Given the description of an element on the screen output the (x, y) to click on. 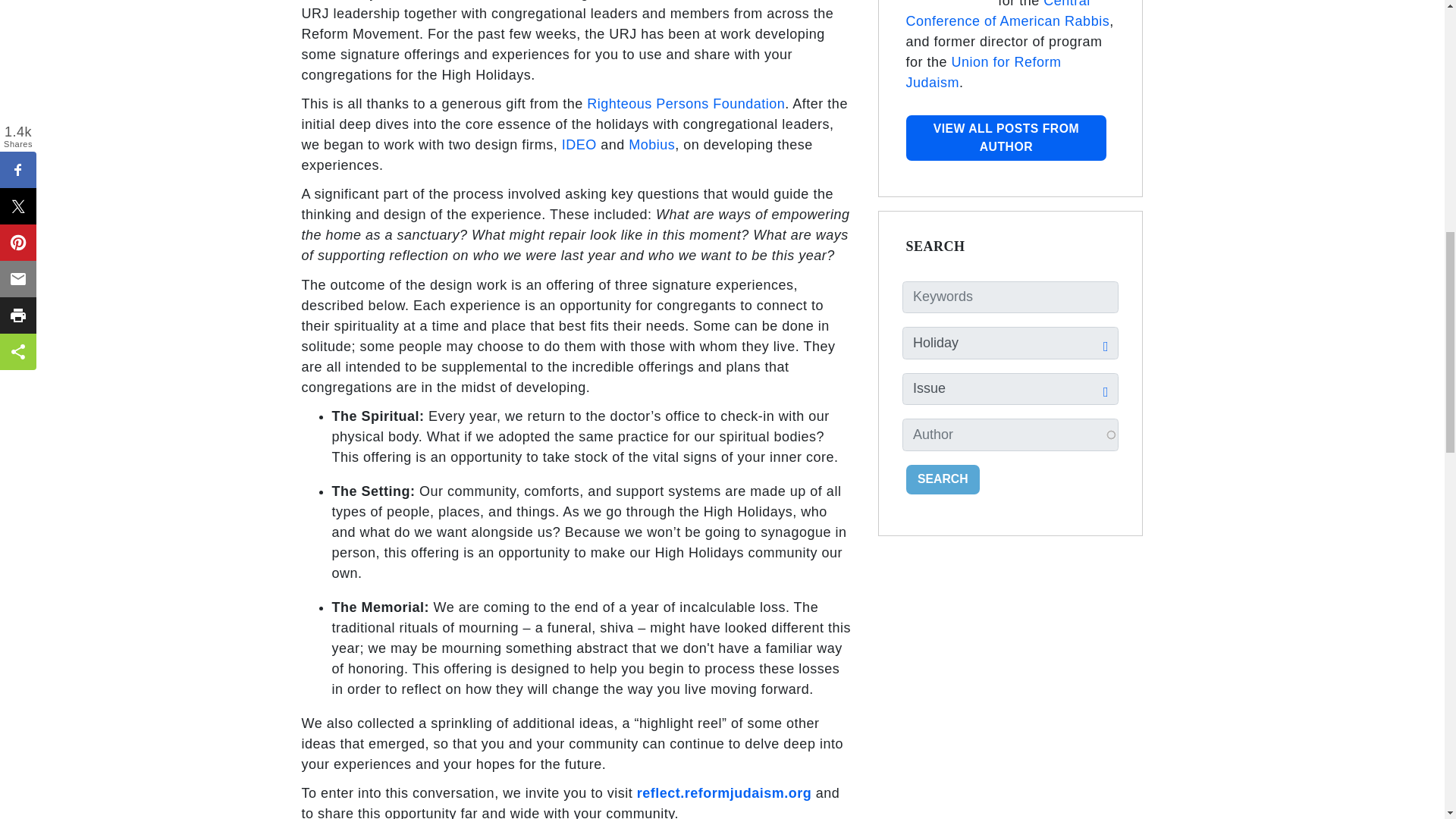
Search (942, 479)
